Given the description of an element on the screen output the (x, y) to click on. 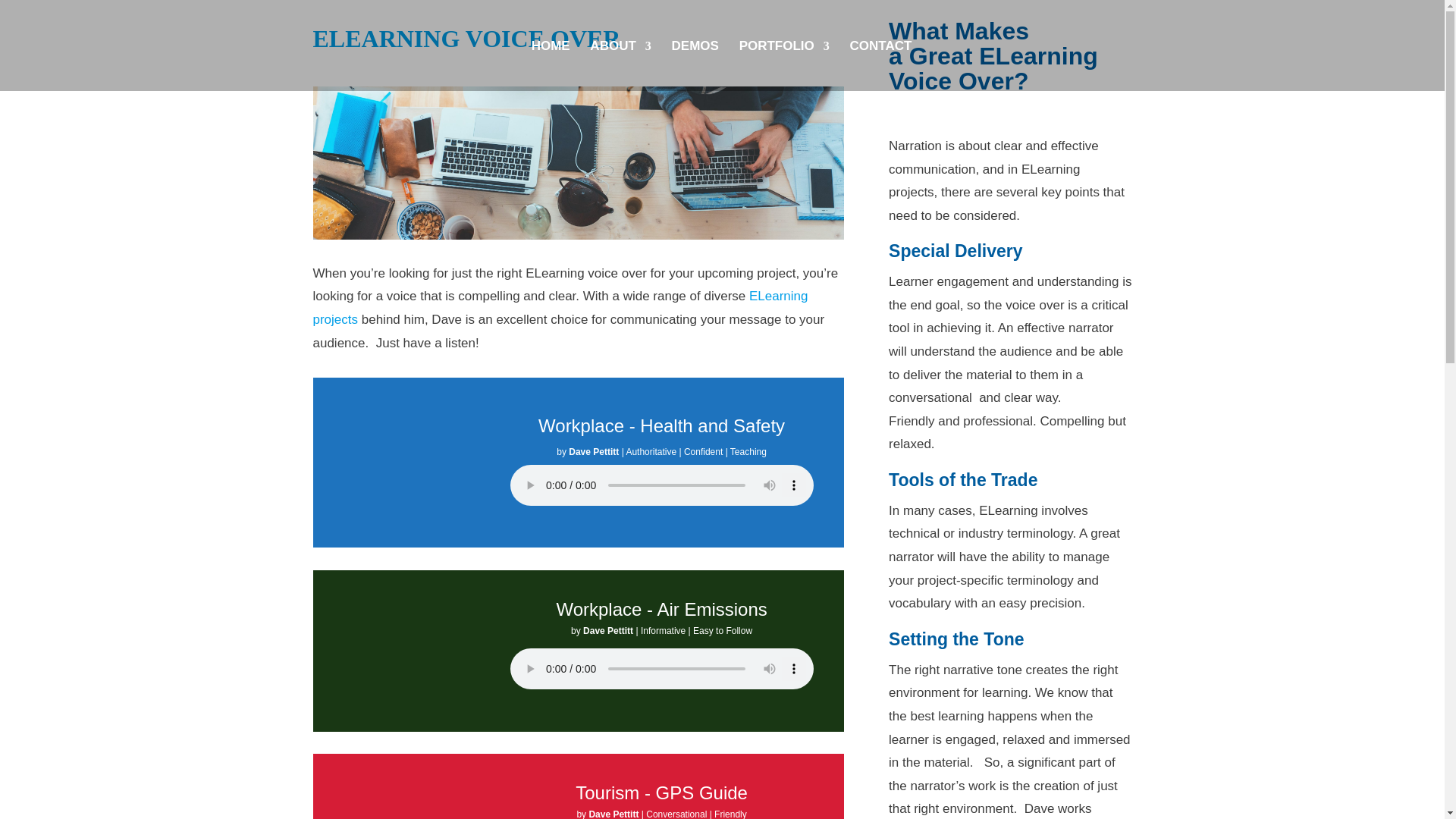
ELearning projects (560, 307)
ELearning Voice Over   (578, 162)
CONTACT (881, 65)
PORTFOLIO (784, 65)
ABOUT (619, 65)
DEMOS (695, 65)
